Given the description of an element on the screen output the (x, y) to click on. 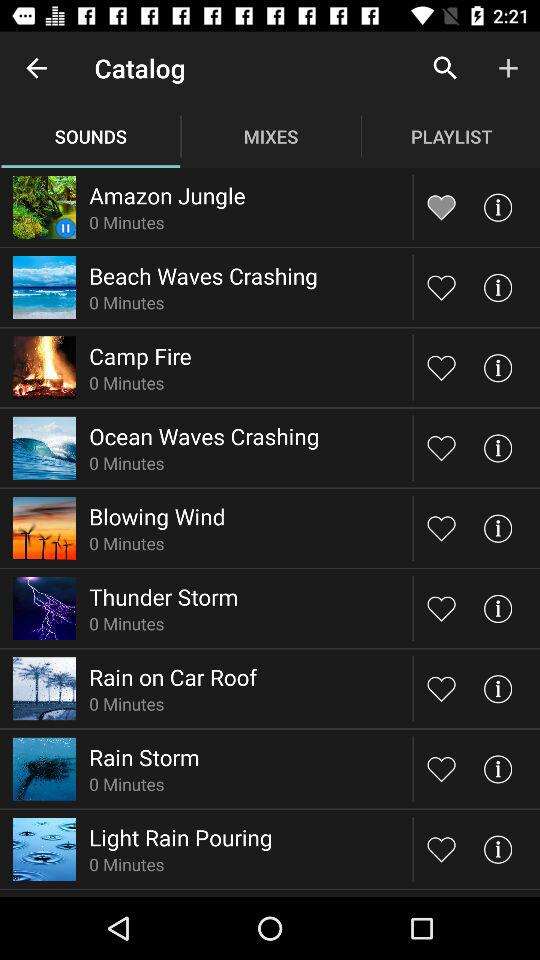
unfavorite (441, 206)
